Given the description of an element on the screen output the (x, y) to click on. 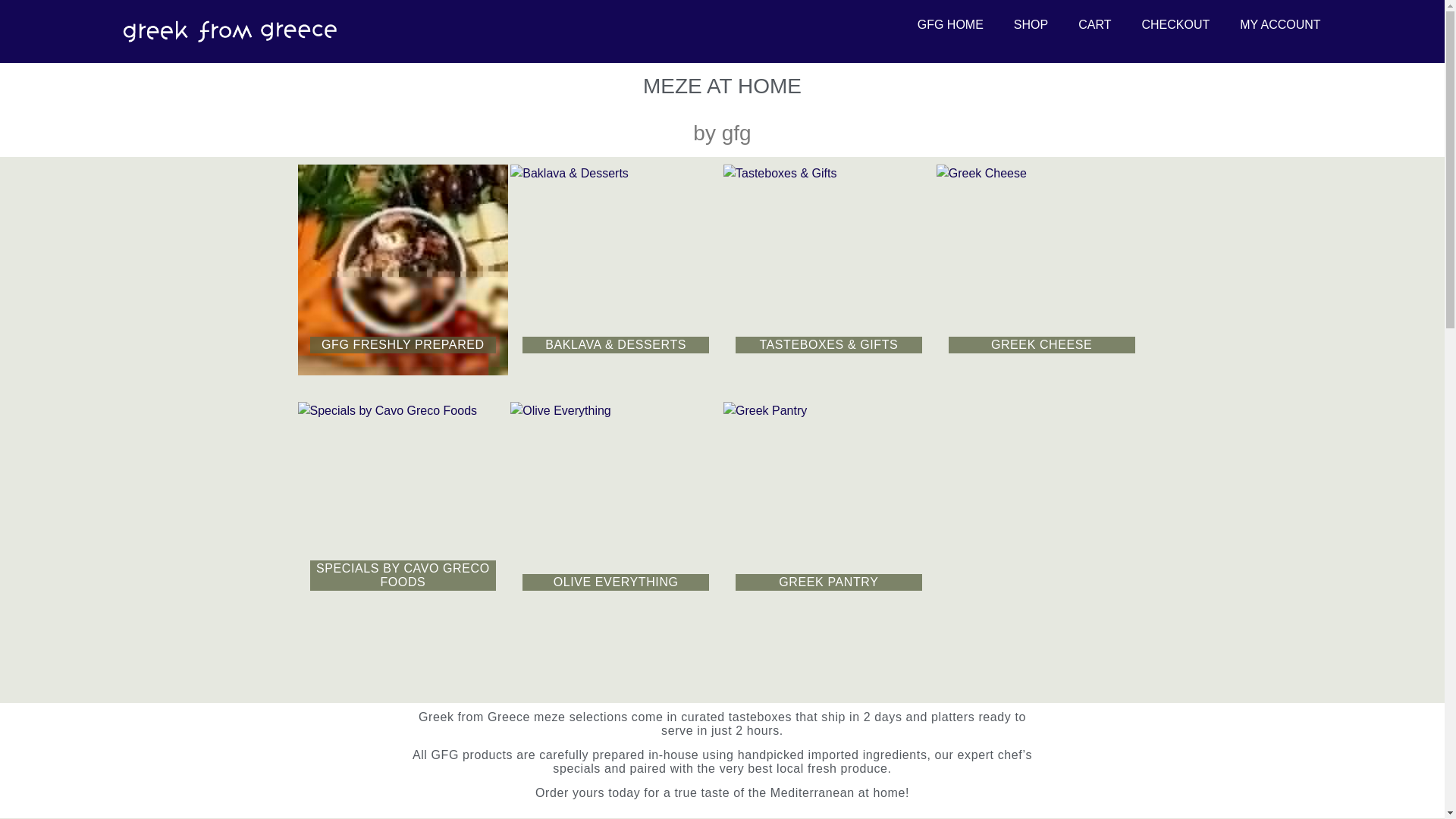
GFG HOME (950, 24)
GREEK PANTRY (828, 507)
GFG FRESHLY PREPARED (402, 269)
GREEK CHEESE (1041, 269)
SHOP (1030, 24)
MY ACCOUNT (1279, 24)
CART (1093, 24)
CHECKOUT (1174, 24)
SPECIALS BY CAVO GRECO FOODS (402, 507)
OLIVE EVERYTHING (615, 507)
